Given the description of an element on the screen output the (x, y) to click on. 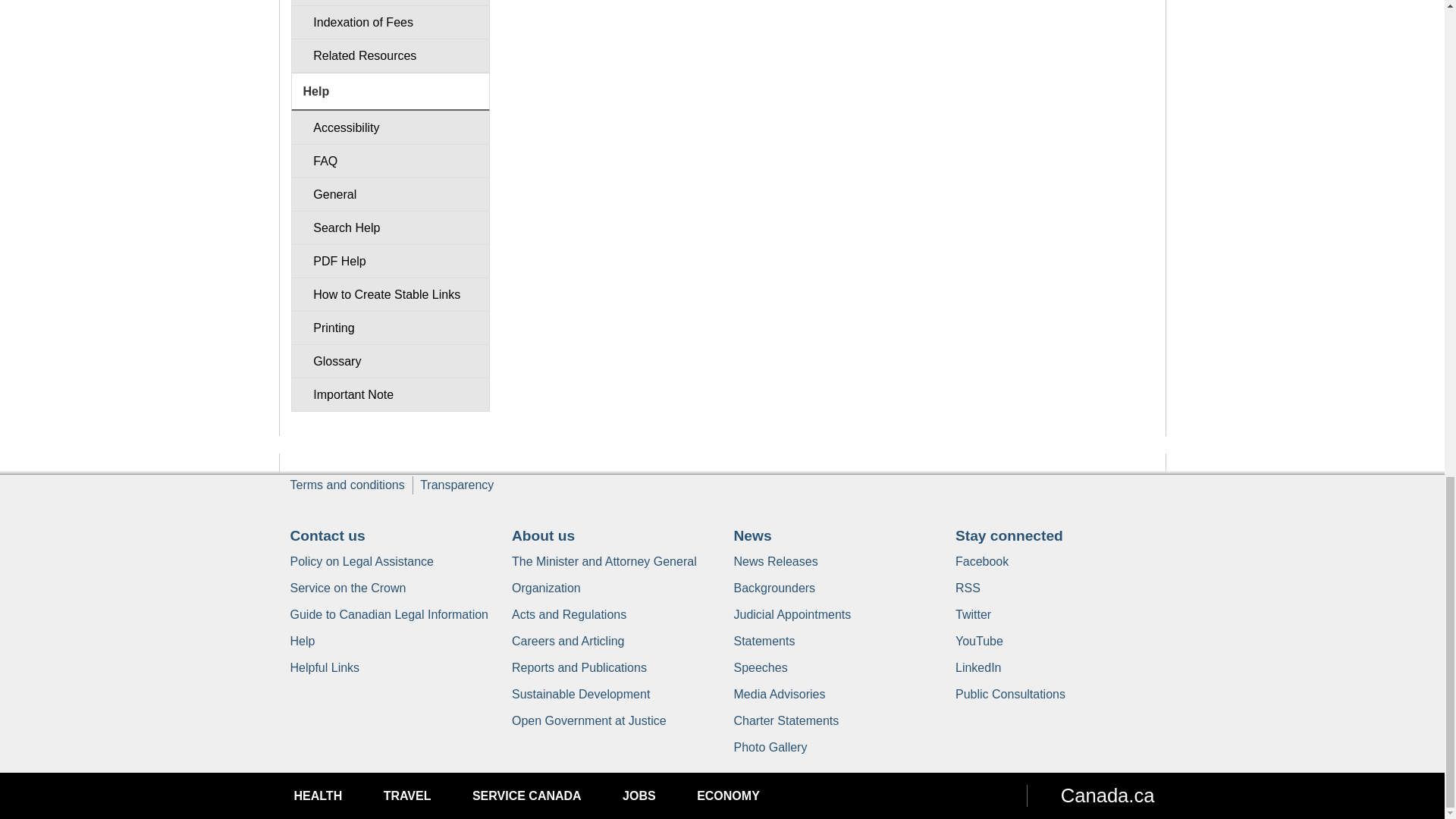
Accessibility Help (390, 127)
General Help (390, 194)
Related Resources (390, 55)
Printing Help (390, 327)
Helpful links (324, 667)
Frequently Asked Questions (390, 161)
